Given the description of an element on the screen output the (x, y) to click on. 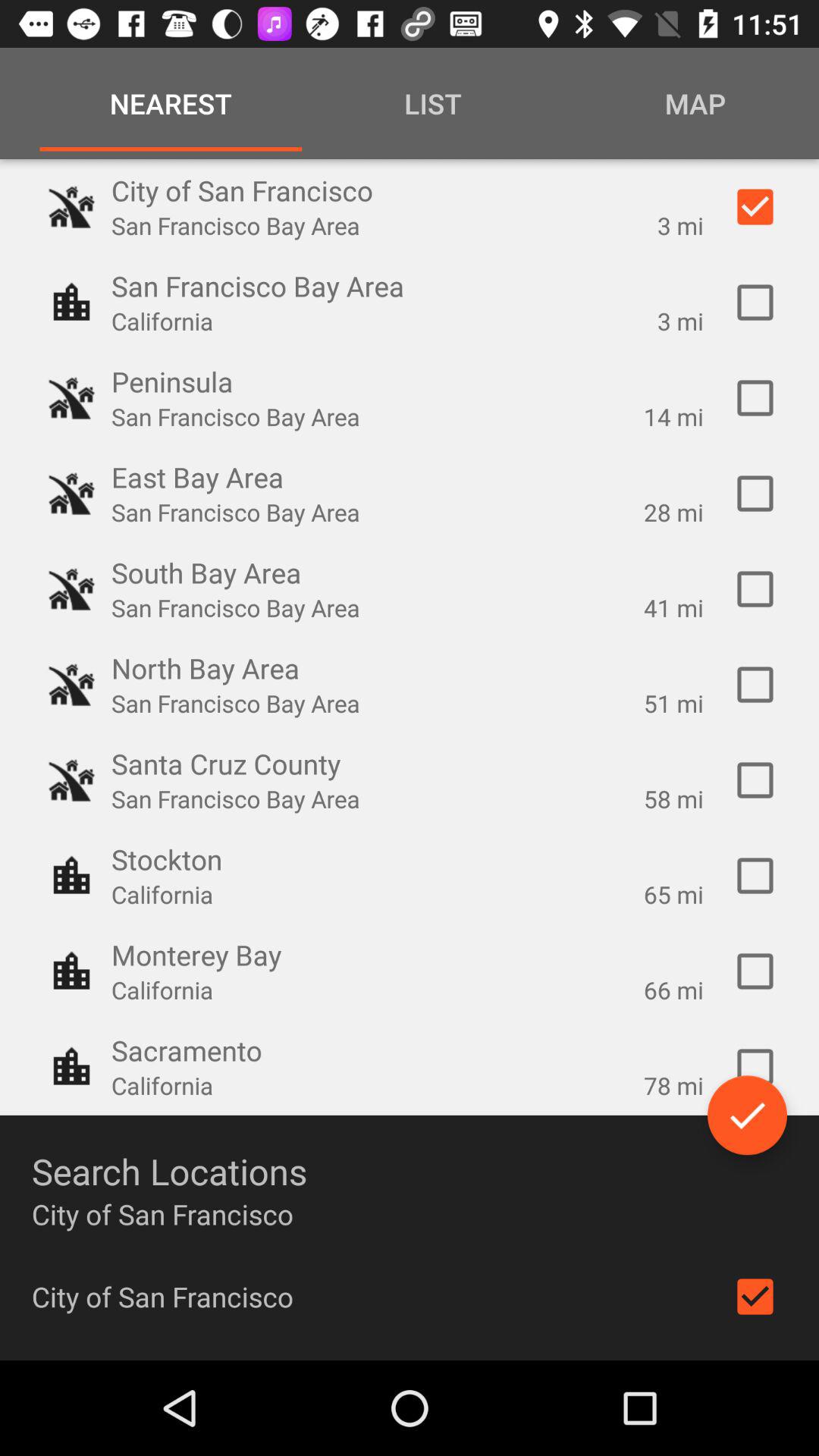
open the icon next to the city of san (755, 1296)
